Given the description of an element on the screen output the (x, y) to click on. 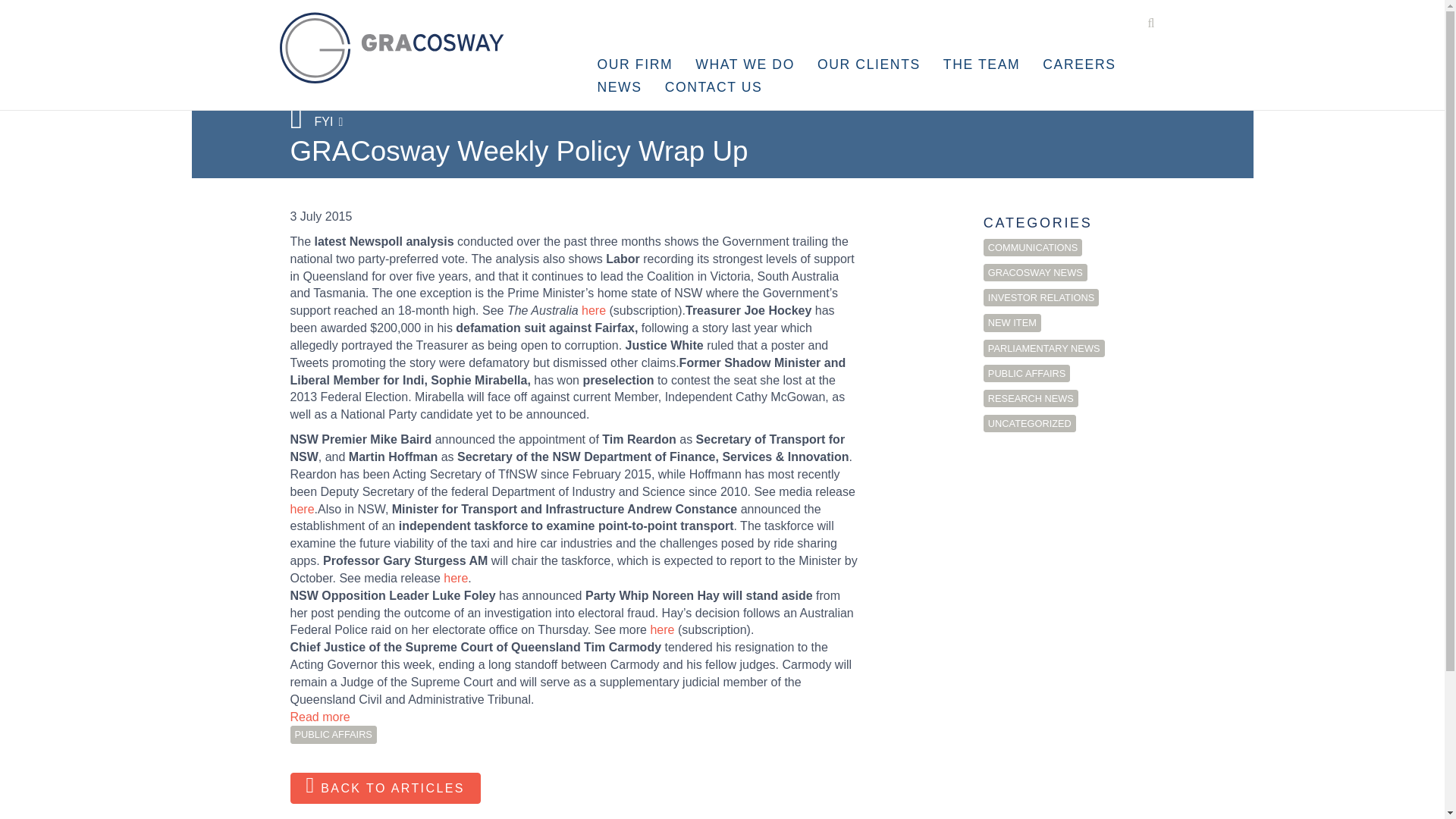
here (455, 577)
CONTACT US (713, 87)
OUR FIRM (634, 64)
OUR CLIENTS (868, 64)
WHAT WE DO (745, 64)
CAREERS (1078, 64)
RESEARCH NEWS (1031, 398)
PARLIAMENTARY NEWS (1044, 348)
NEW ITEM (1012, 322)
here (592, 309)
GRACOSWAY NEWS (1035, 272)
COMMUNICATIONS (1032, 247)
here (301, 508)
INVESTOR RELATIONS (1041, 297)
here (661, 629)
